Given the description of an element on the screen output the (x, y) to click on. 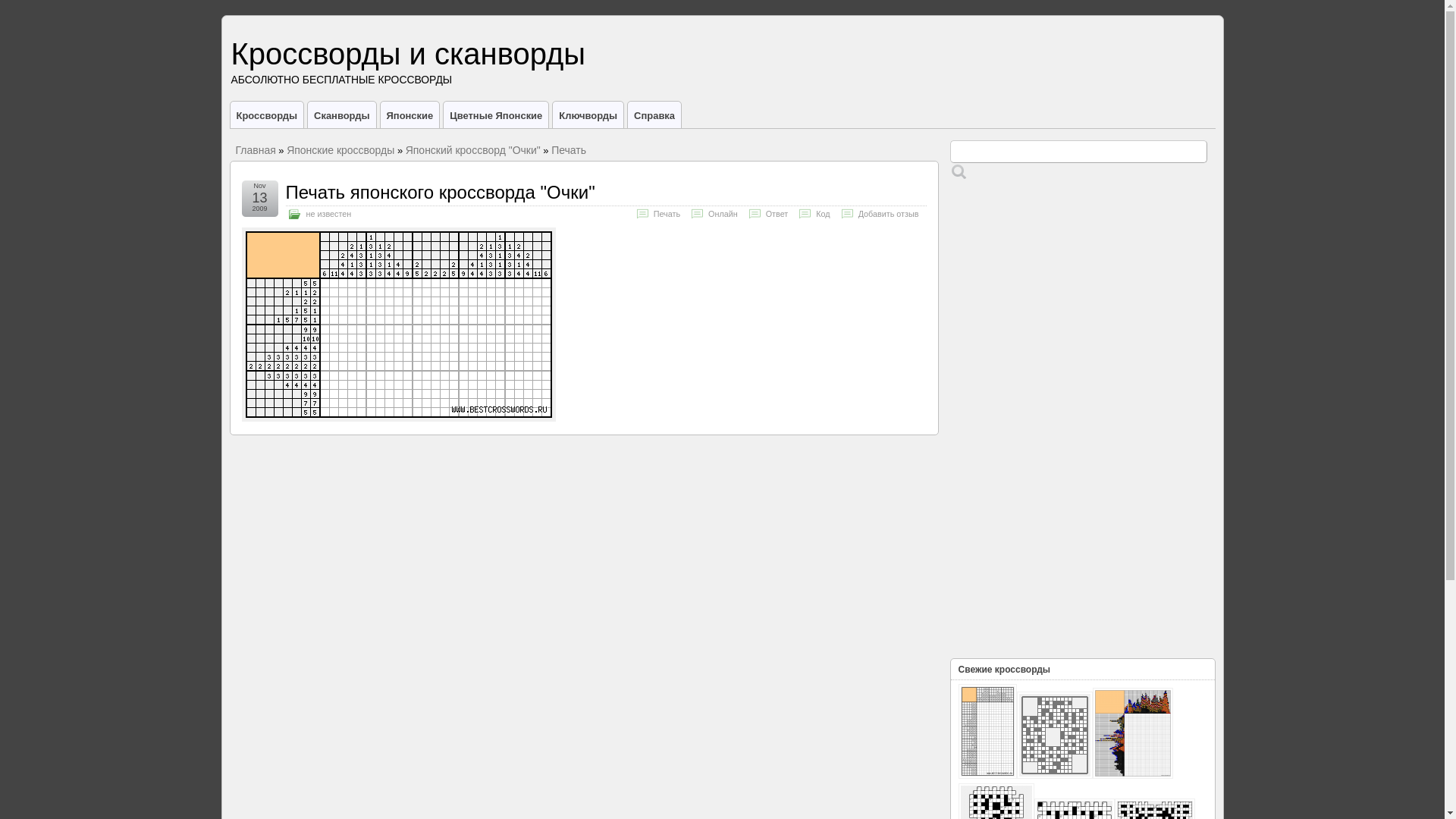
LiveJournal Element type: hover (1189, 113)
Twitter Element type: hover (1140, 113)
Facebook Element type: hover (1125, 113)
30003292 Element type: hover (1054, 734)
Google Plus Element type: hover (1204, 113)
